Given the description of an element on the screen output the (x, y) to click on. 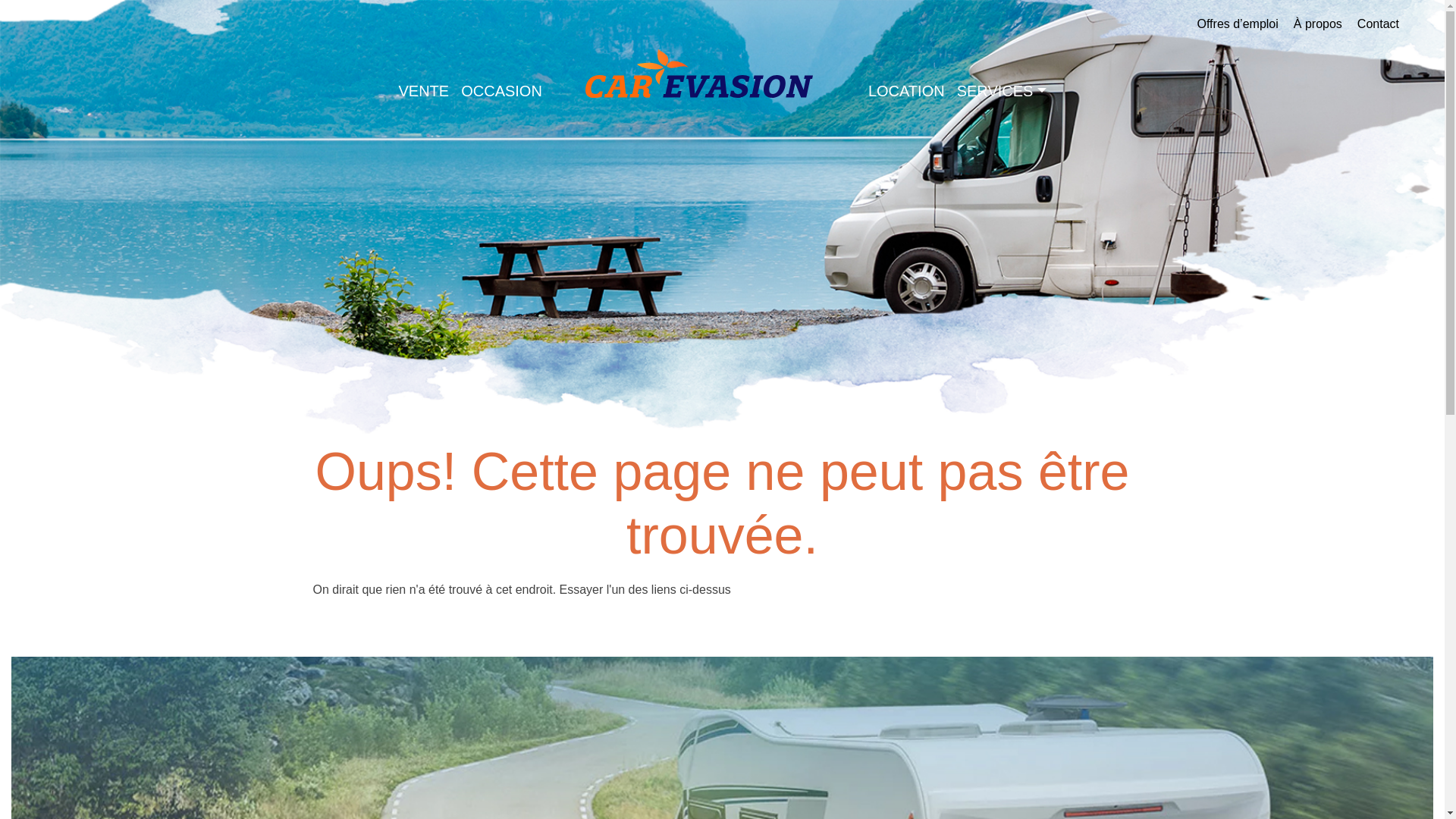
Contact Element type: text (1378, 23)
OCCASION Element type: text (501, 90)
VENTE Element type: text (423, 90)
SERVICES Element type: text (1001, 90)
LOCATION Element type: text (906, 90)
